Given the description of an element on the screen output the (x, y) to click on. 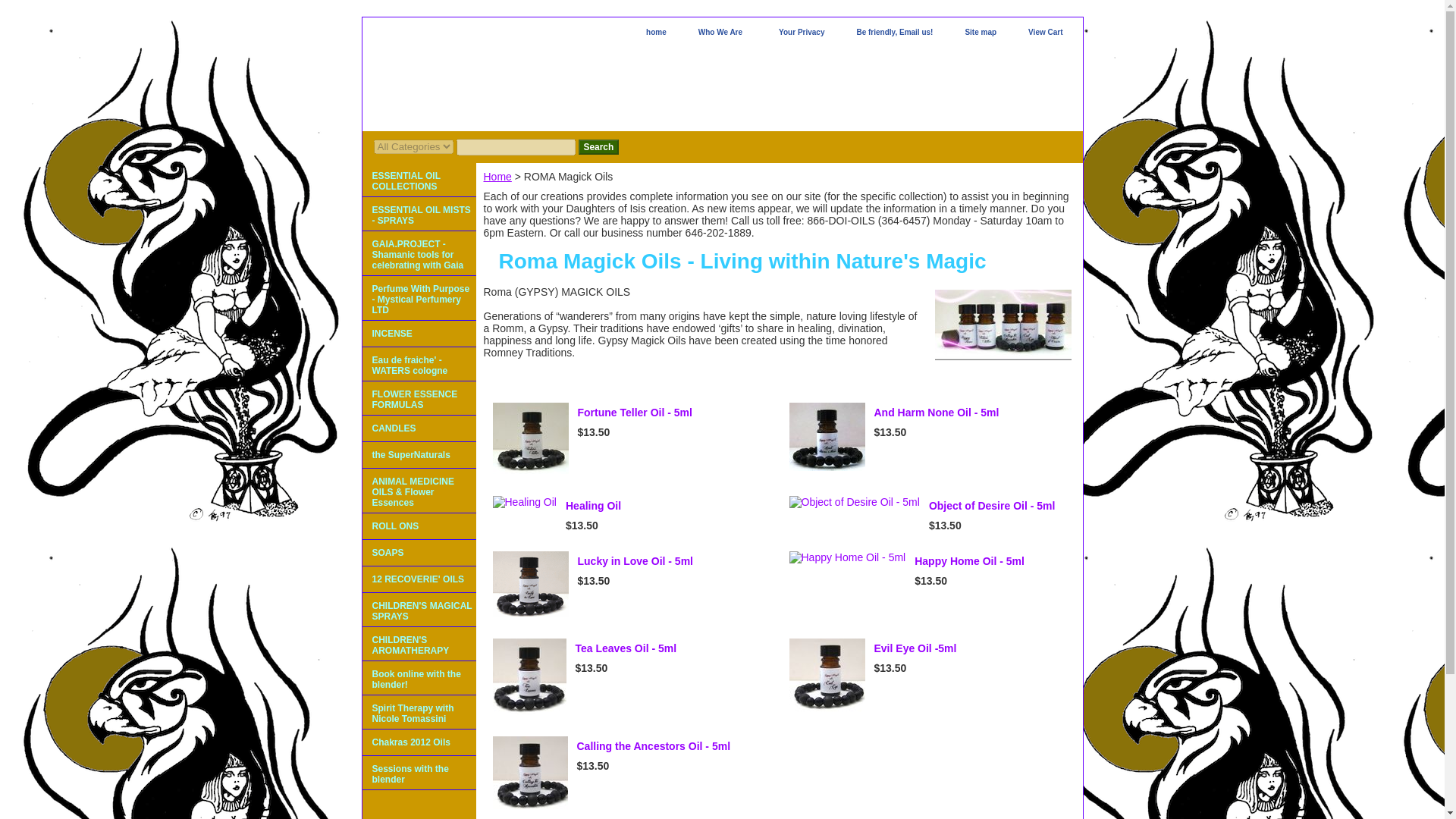
View Cart (1044, 32)
GAIA.PROJECT - Shamanic tools for celebrating with Gaia (419, 253)
Object of Desire Oil - 5ml (991, 505)
Happy Home Oil - 5ml (969, 561)
Tea Leaves Oil - 5ml (626, 648)
Calling the Ancestors Oil - 5ml (530, 774)
Be friendly, Email us! (894, 32)
Calling the Ancestors Oil - 5ml (653, 746)
home (655, 32)
CANDLES (419, 428)
Perfume With Purpose - Mystical Perfumery LTD (419, 298)
Healing Oil (524, 501)
Lucky in Love Oil - 5ml (531, 583)
Lucky in Love Oil - 5ml (635, 561)
INCENSE (419, 334)
